Given the description of an element on the screen output the (x, y) to click on. 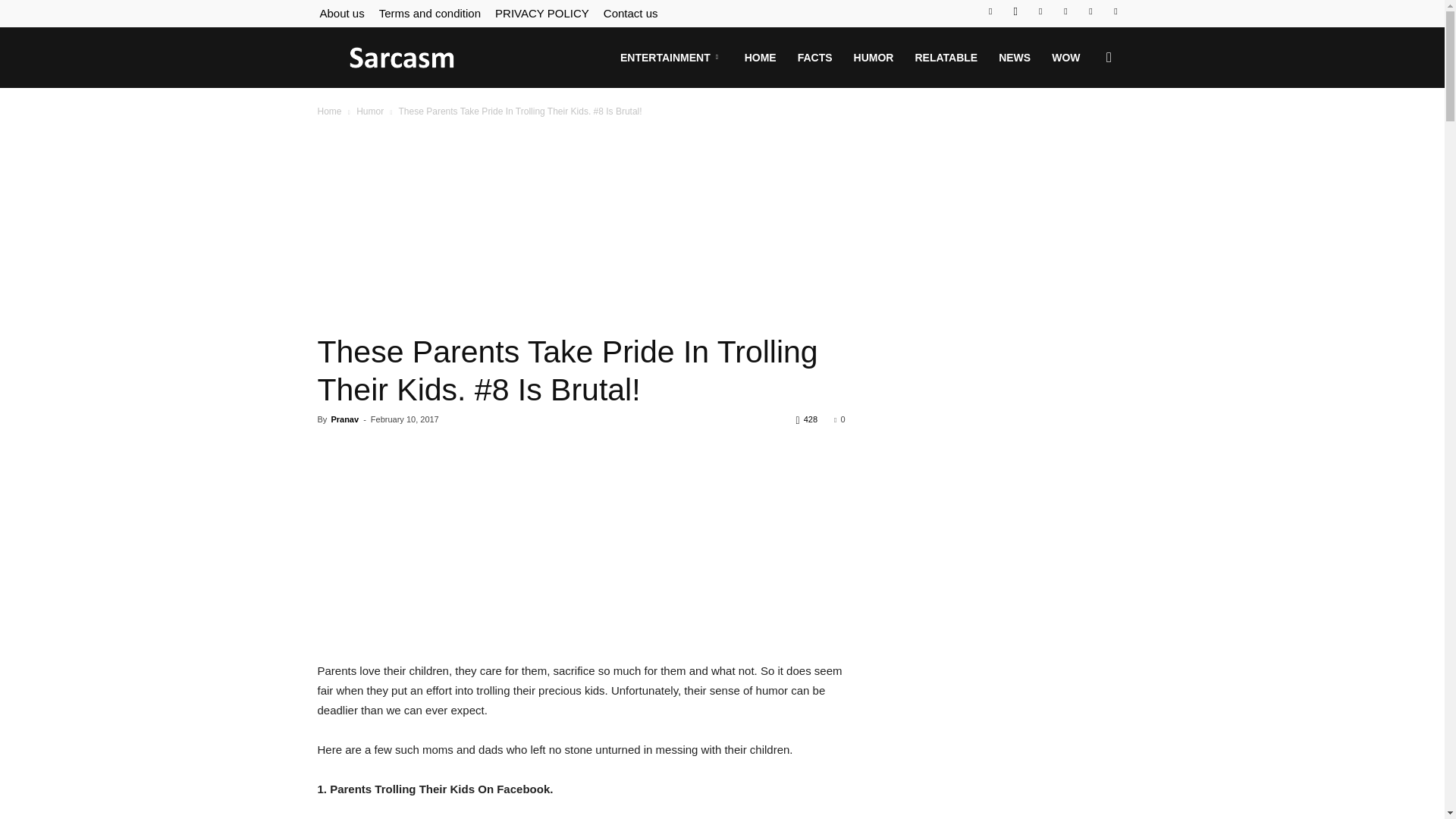
ENTERTAINMENT (671, 57)
Youtube (1114, 10)
Sarcasm.co (401, 57)
Search (1085, 129)
Terms and condition (429, 12)
Vimeo (1065, 10)
Instagram (1015, 10)
Twitter (1040, 10)
PRIVACY POLICY (542, 12)
Contact us (631, 12)
